Given the description of an element on the screen output the (x, y) to click on. 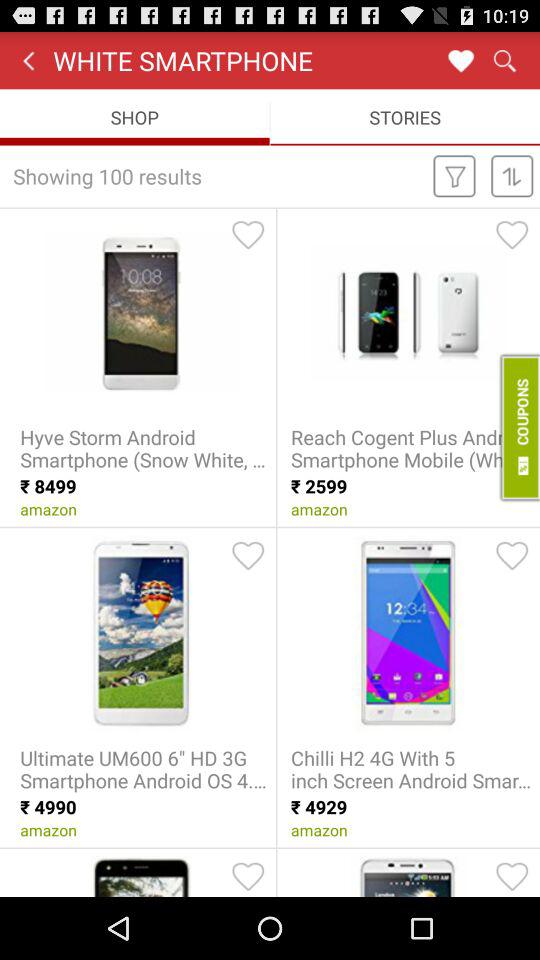
select item to the right of white smartphone item (460, 60)
